Given the description of an element on the screen output the (x, y) to click on. 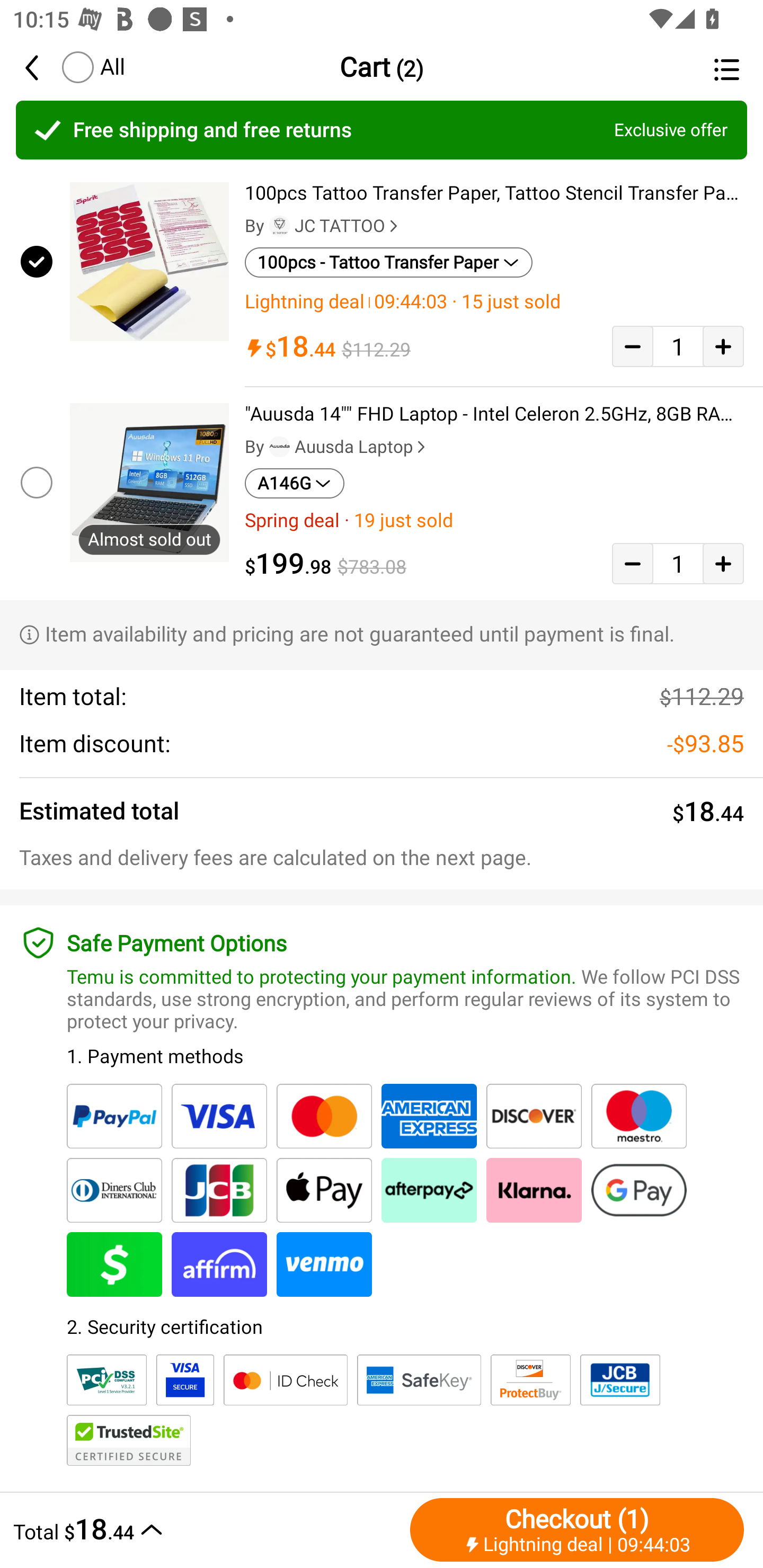
back (41, 67)
Select all tick button All (92, 67)
Free shipping and free returns Exclusive offer (381, 129)
Product checkbox checked (35, 260)
By JC TATTOO (322, 226)
100pcs - Tattoo Transfer Paper (388, 262)
Decrease quantity button (632, 346)
1 (677, 346)
Add quantity button (722, 346)
Product checkbox uncheck (35, 481)
By Auusda Laptop (336, 446)
A146G (294, 483)
Spring deal · 19 just sold (493, 520)
Decrease quantity button (632, 563)
1 (677, 563)
Add quantity button (722, 563)
Total $18.44 (206, 1529)
Checkout Checkout (1) ￼Lightning deal | ￼ (576, 1529)
